Given the description of an element on the screen output the (x, y) to click on. 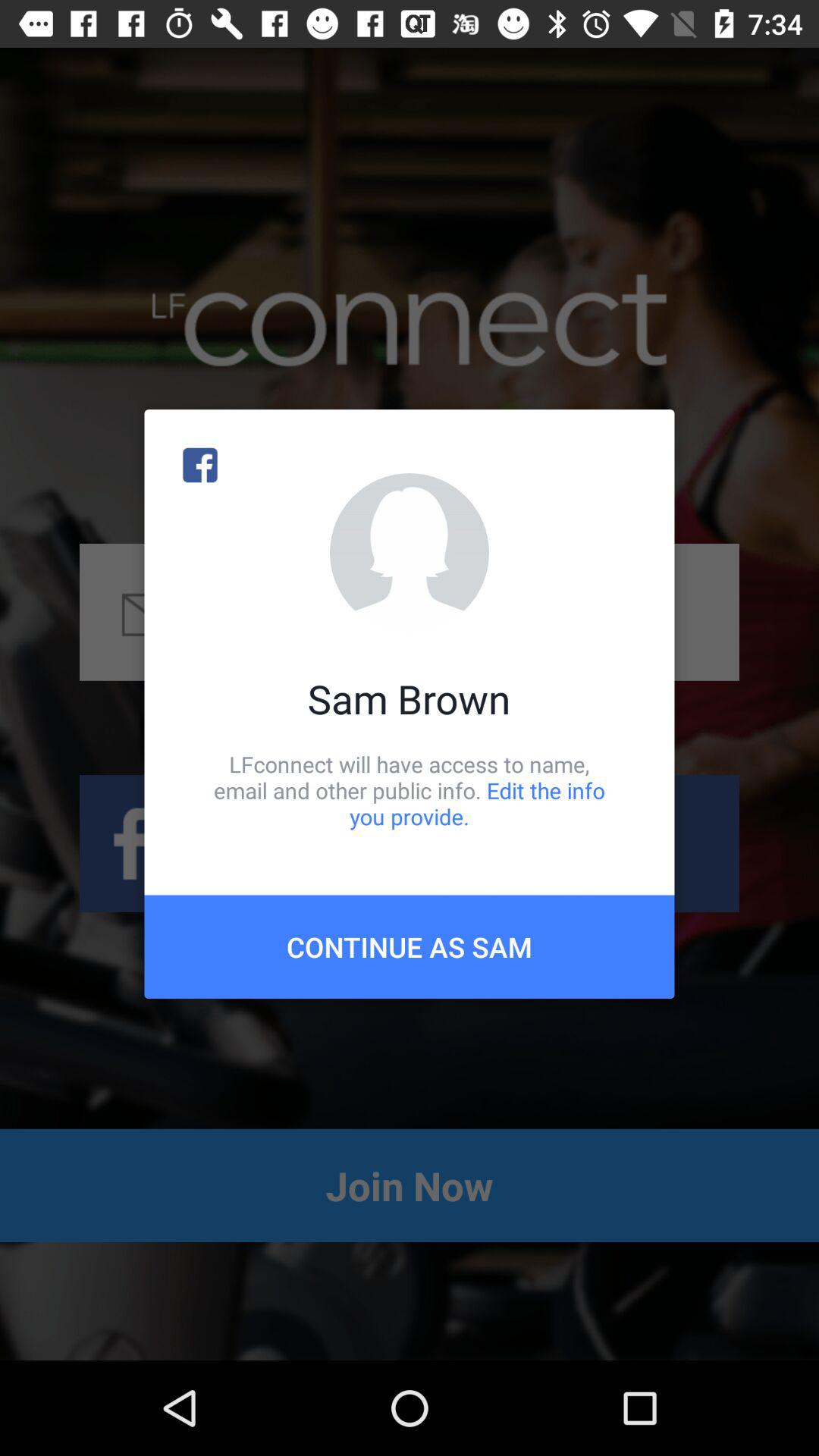
tap the item above the continue as sam (409, 790)
